Given the description of an element on the screen output the (x, y) to click on. 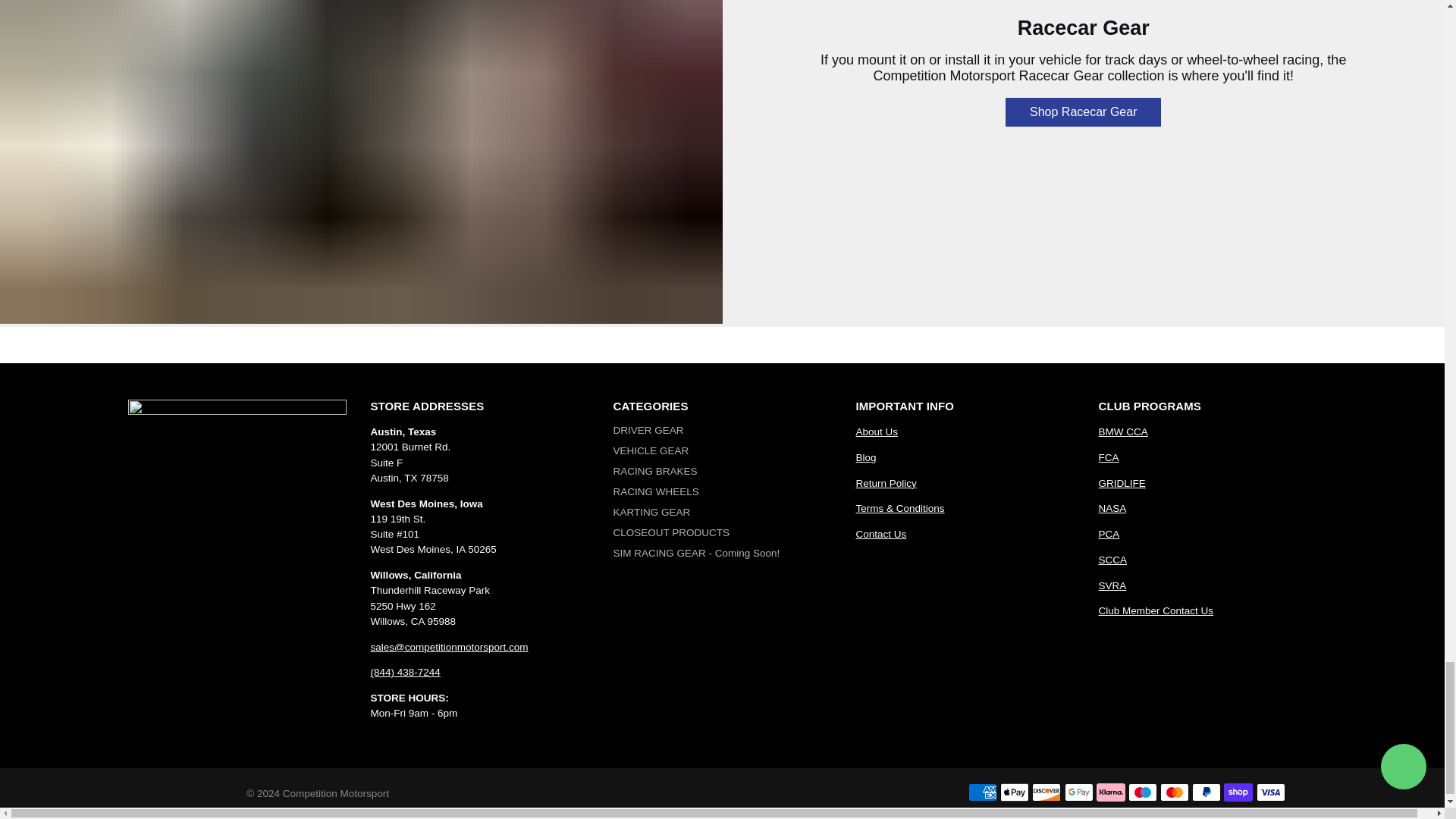
Maestro (1142, 791)
About Us (877, 431)
Mastercard (1174, 791)
Apple Pay (1014, 791)
Contact (880, 533)
Visa (1270, 791)
Shop Pay (1238, 791)
Return Policy (885, 482)
Blog (866, 457)
Terms and Conditions (899, 508)
